Given the description of an element on the screen output the (x, y) to click on. 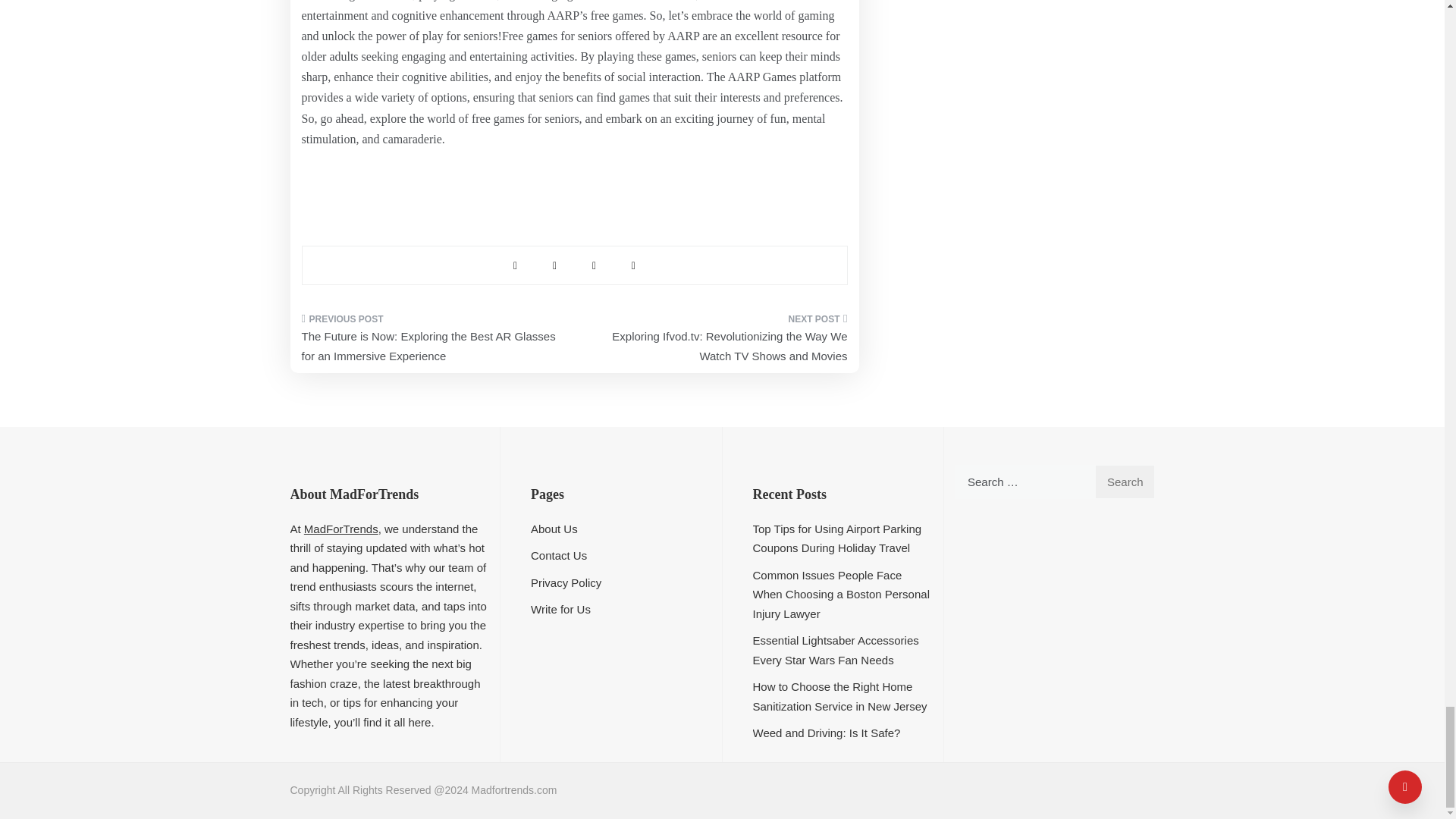
Search (1124, 481)
Search (1124, 481)
